Given the description of an element on the screen output the (x, y) to click on. 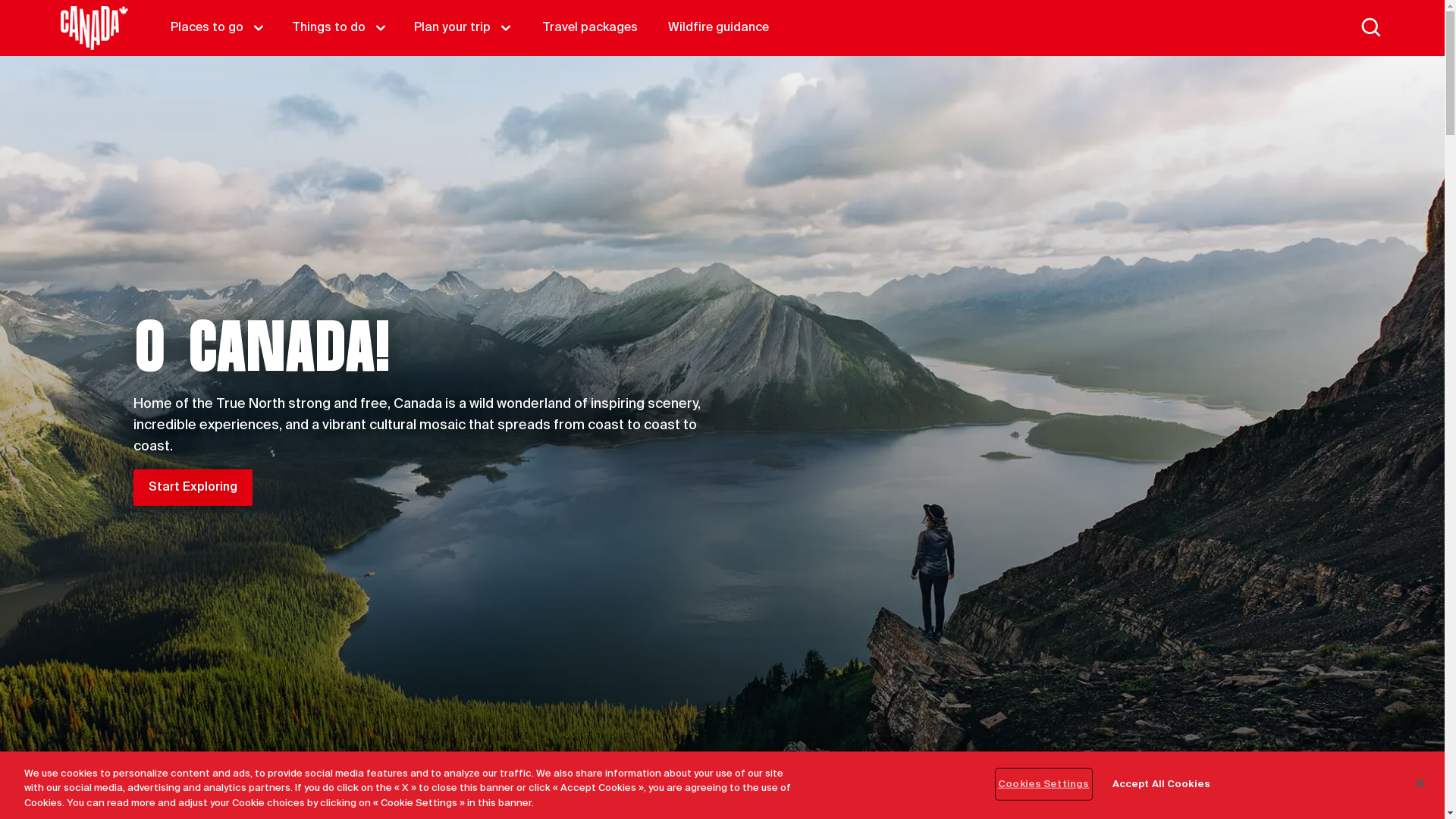
Things to do Element type: text (340, 28)
Wildfire guidance Element type: text (718, 28)
Start Exploring Element type: text (192, 487)
Plan your trip Element type: text (464, 28)
Places to go Element type: text (218, 28)
Travel packages Element type: text (589, 28)
